Given the description of an element on the screen output the (x, y) to click on. 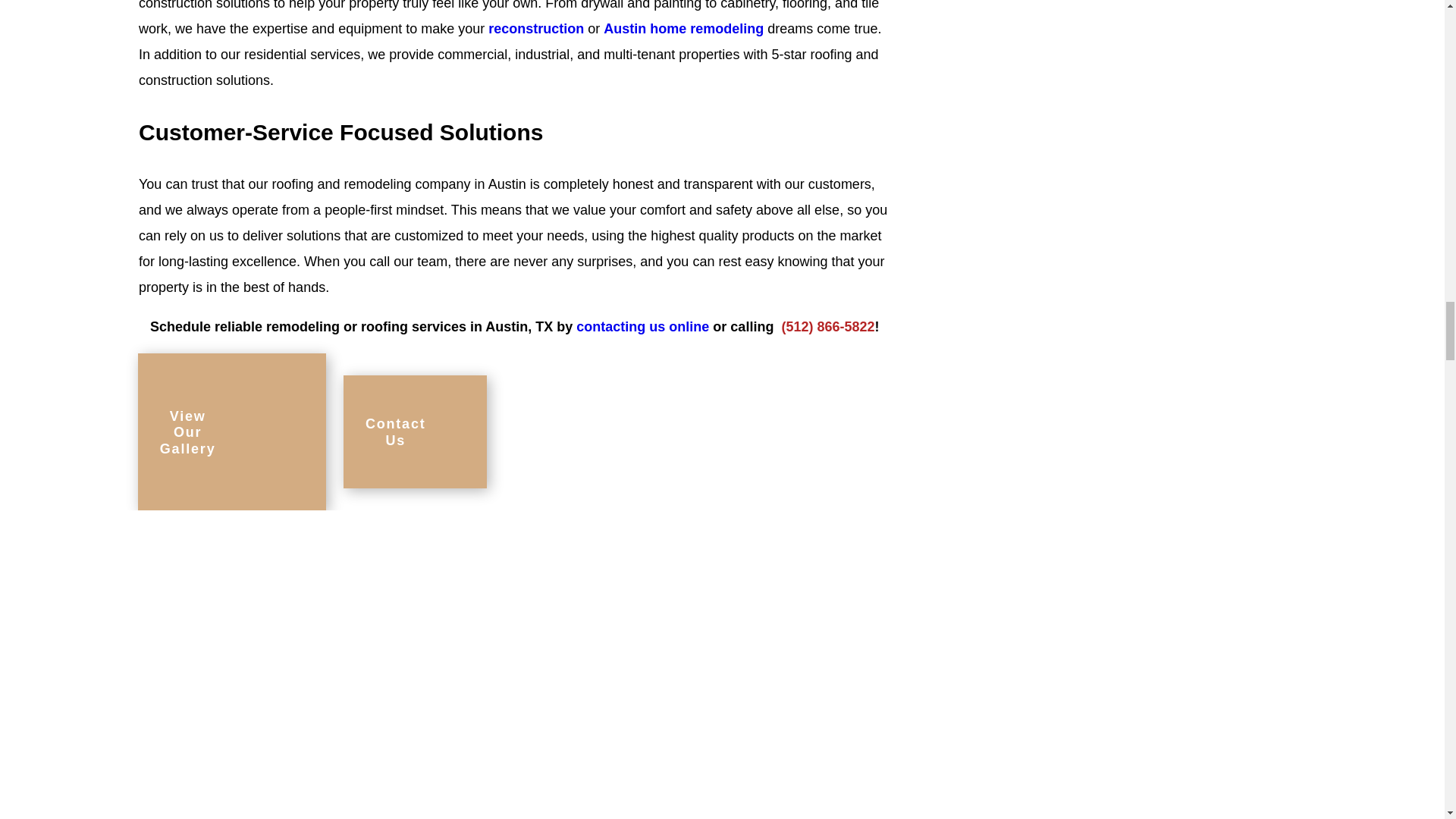
Arrow (302, 431)
Arrow (489, 432)
